Given the description of an element on the screen output the (x, y) to click on. 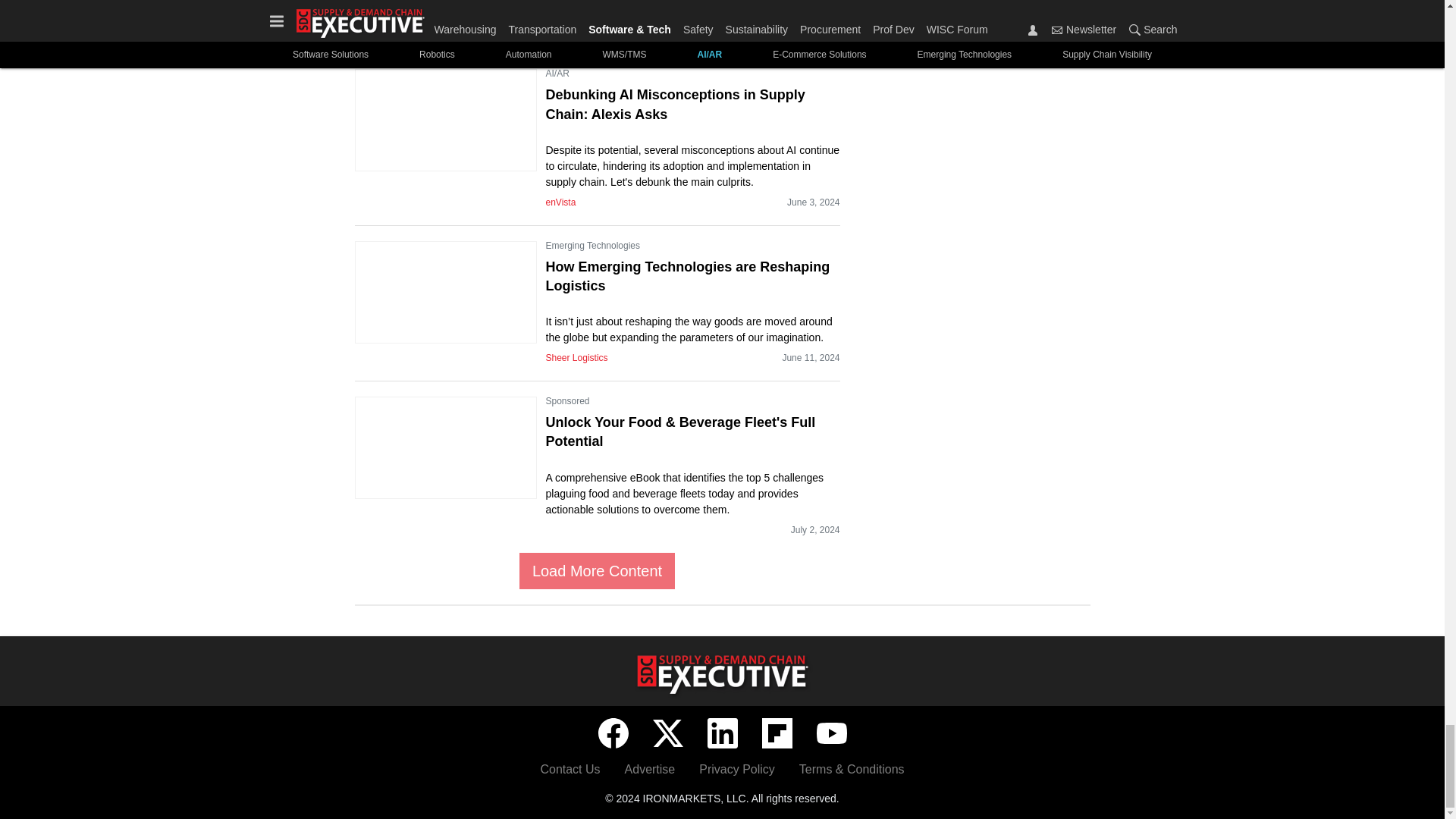
Twitter X icon (667, 733)
Flipboard icon (776, 733)
Facebook icon (611, 733)
LinkedIn icon (721, 733)
YouTube icon (830, 733)
